Given the description of an element on the screen output the (x, y) to click on. 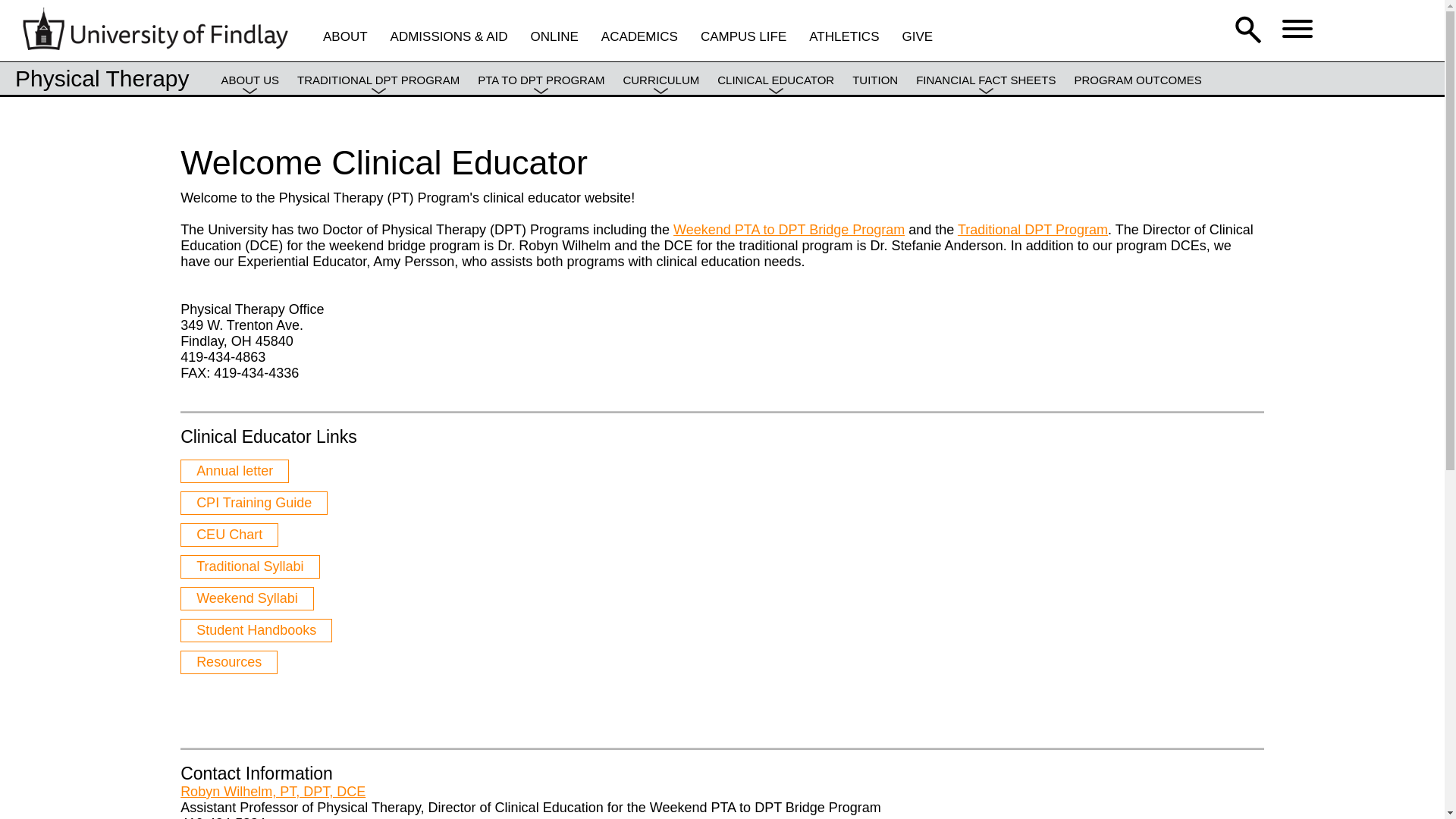
Athletics at the University of Findlay (844, 36)
Campus Life (743, 36)
FINANCIAL FACT SHEETS (985, 90)
PTA TO DPT PROGRAM (540, 90)
ABOUT (345, 36)
Give (917, 36)
PTA to DPT Program (540, 90)
CLINICAL EDUCATOR (775, 90)
Online Degrees (554, 36)
University of Findlay (155, 45)
